Given the description of an element on the screen output the (x, y) to click on. 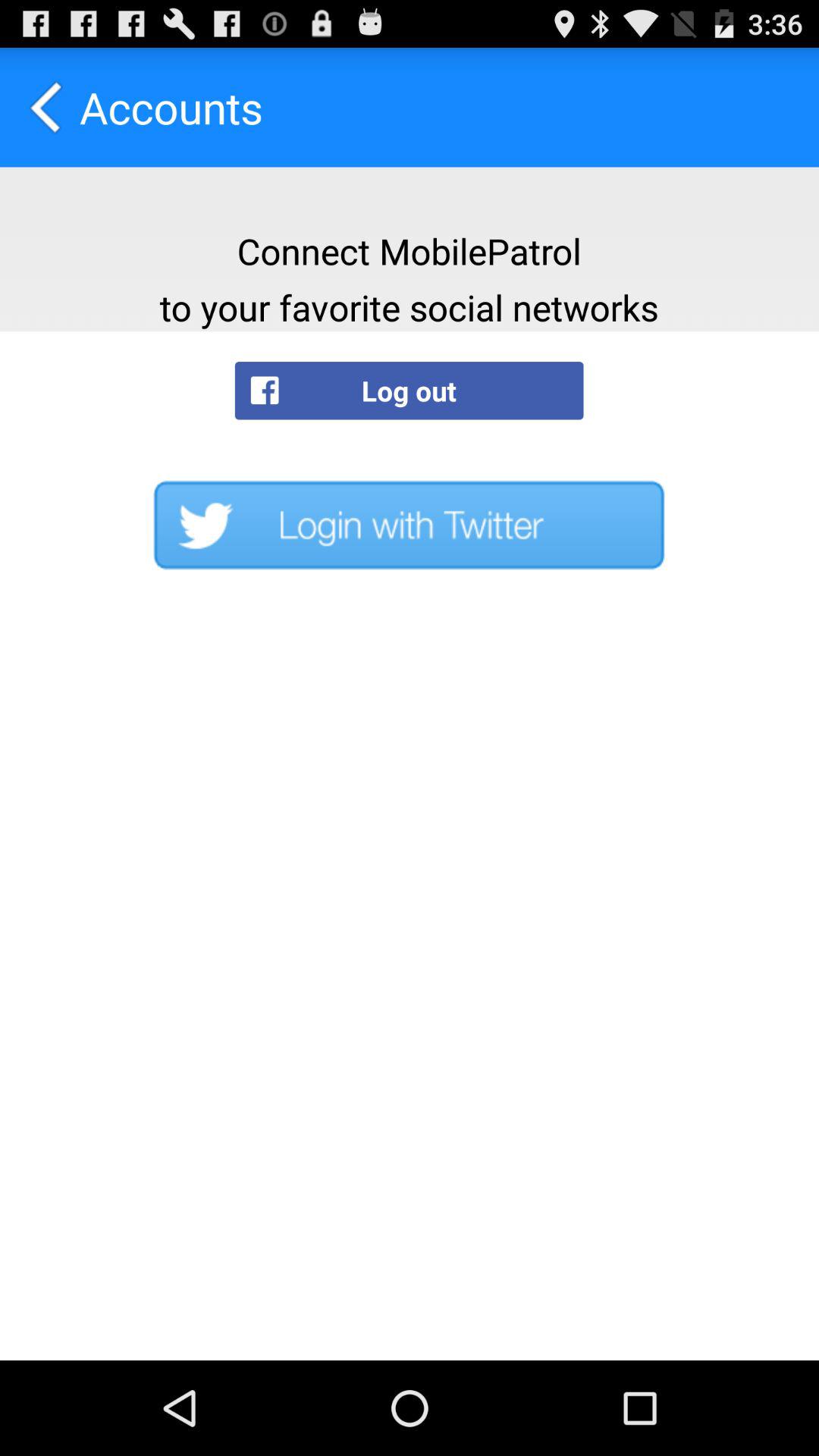
tap item below to your favorite icon (408, 390)
